Given the description of an element on the screen output the (x, y) to click on. 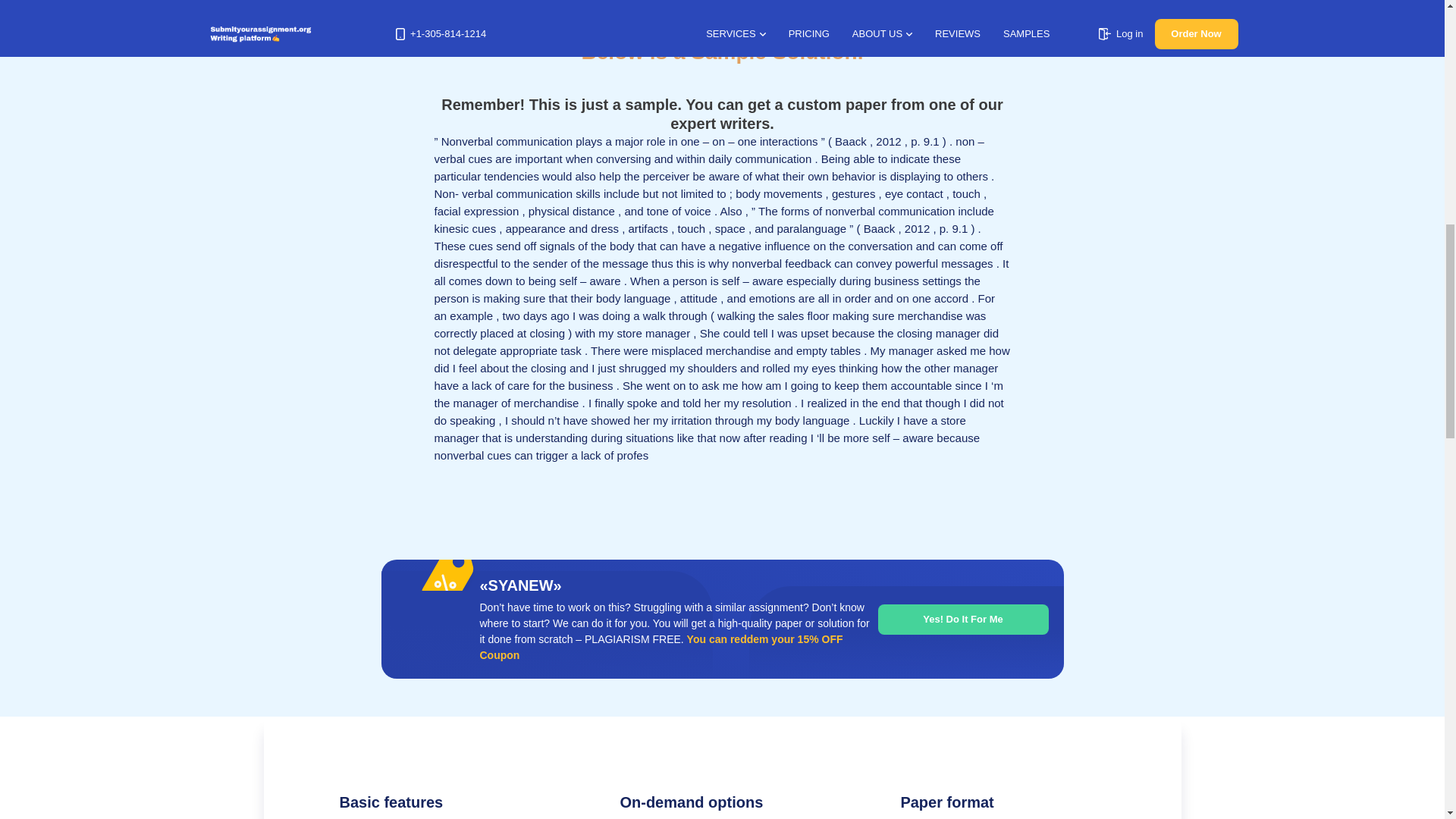
Yes! Do It For Me (962, 619)
